Given the description of an element on the screen output the (x, y) to click on. 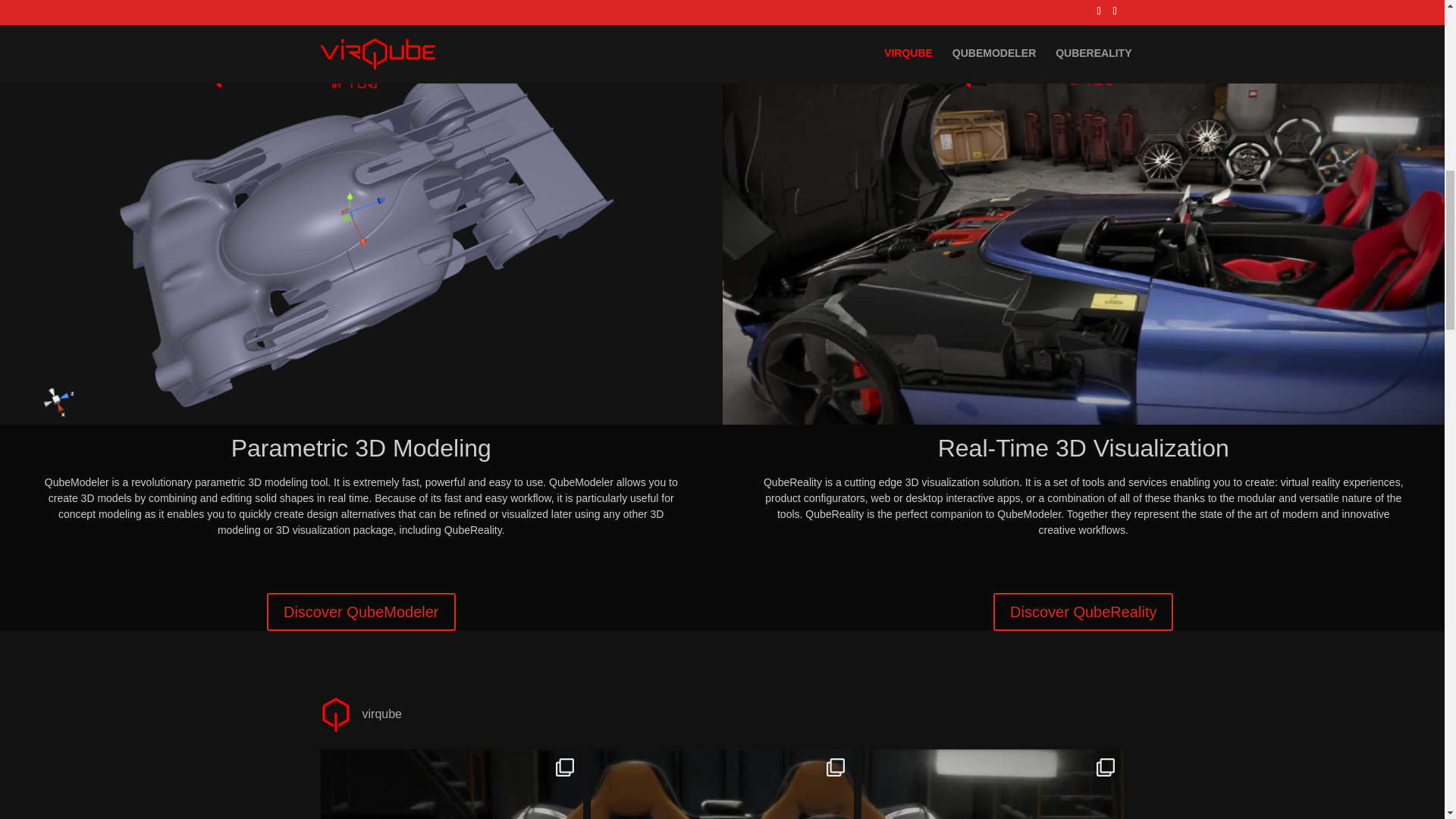
Discover QubeReality (1082, 611)
virqube (378, 714)
Discover QubeModeler (360, 611)
